Given the description of an element on the screen output the (x, y) to click on. 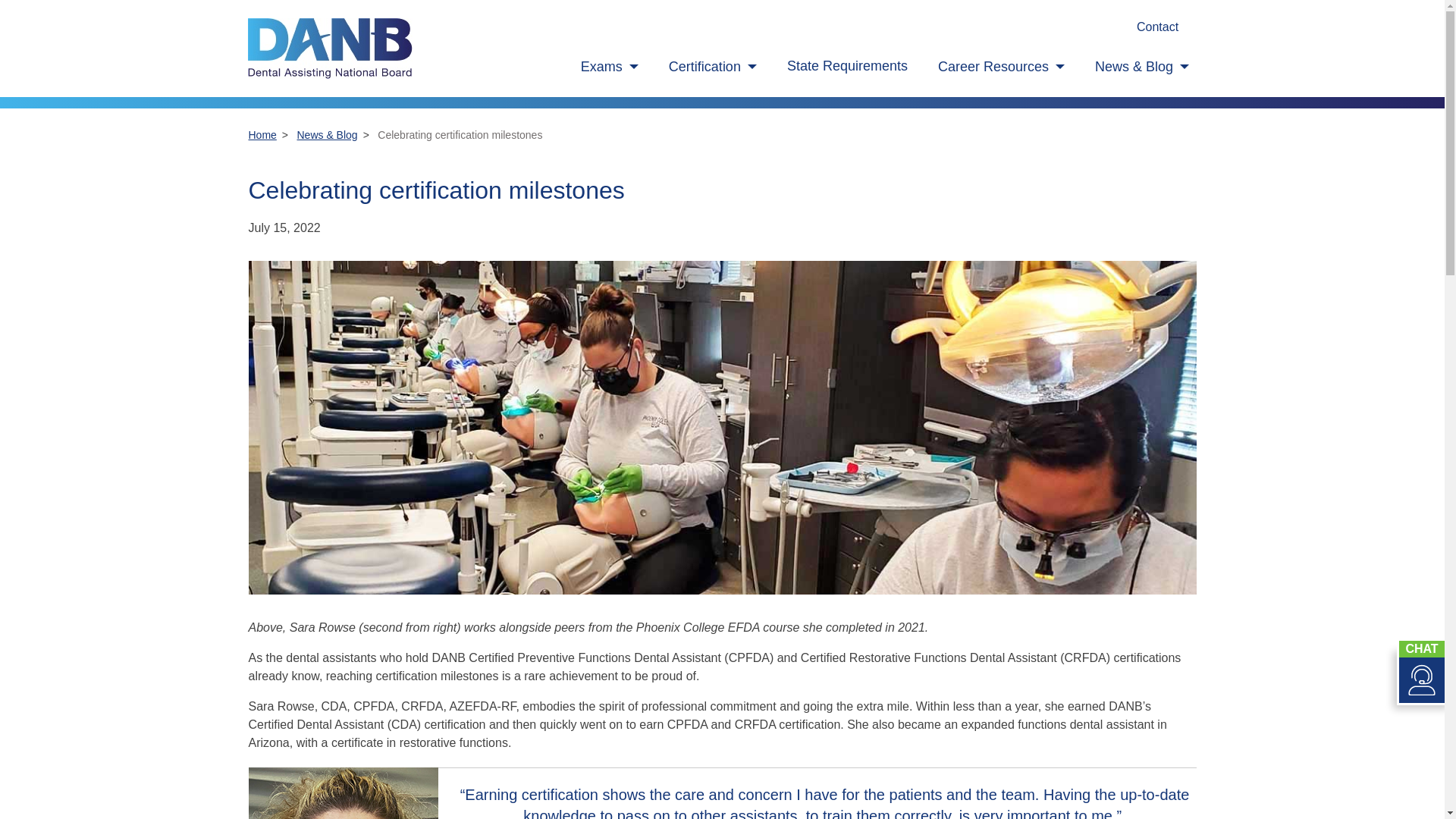
Career Resources (1000, 66)
Contact (1157, 26)
Certification (712, 66)
State Requirements (847, 66)
Exams (609, 66)
